Given the description of an element on the screen output the (x, y) to click on. 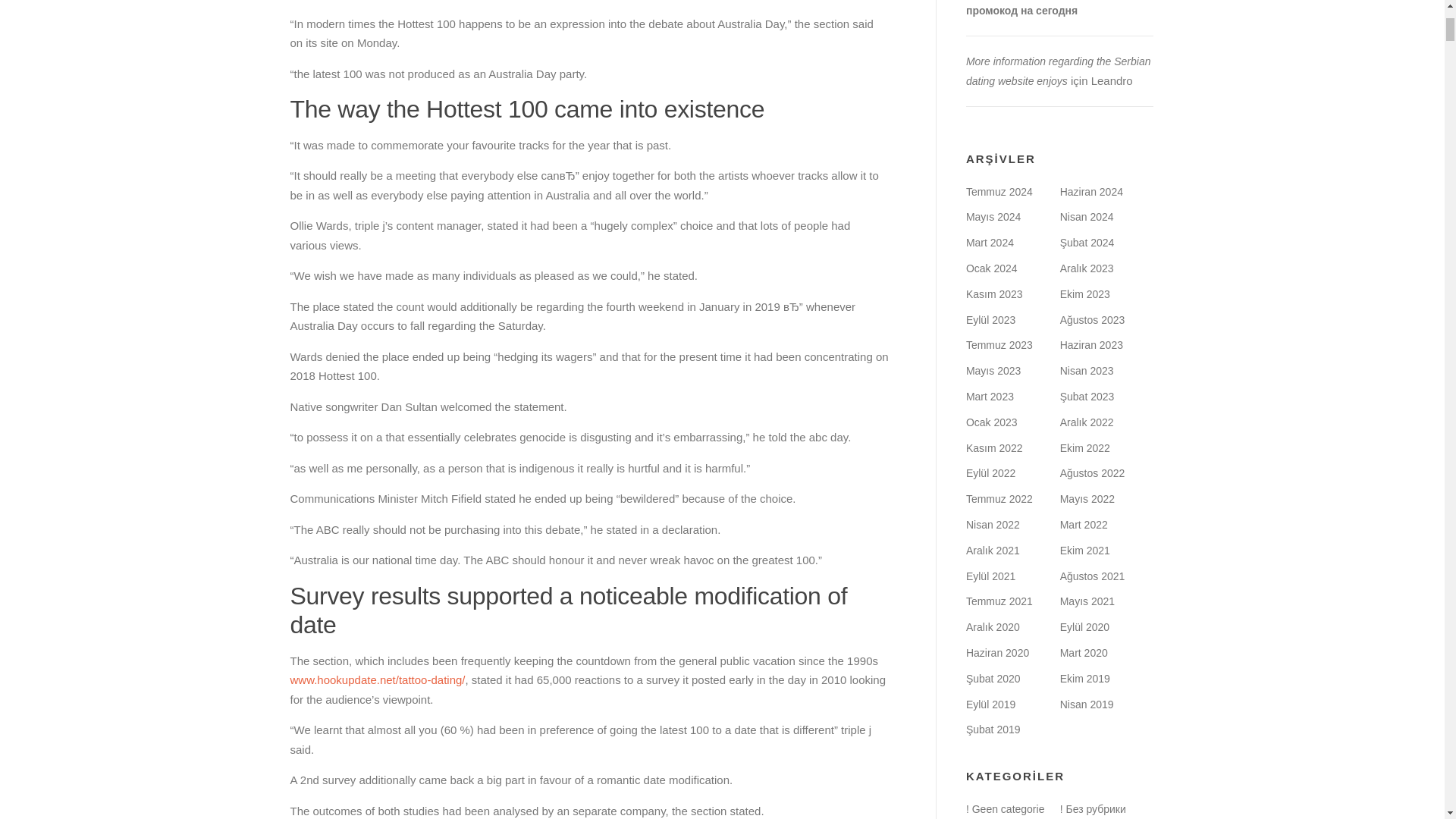
Ekim 2023 (1084, 294)
Nisan 2024 (1086, 216)
Mart 2023 (989, 396)
Mart 2024 (989, 242)
Temmuz 2024 (999, 191)
Nisan 2023 (1086, 370)
Haziran 2024 (1090, 191)
Haziran 2023 (1090, 345)
Temmuz 2023 (999, 345)
More information regarding the Serbian dating website enjoys (1058, 70)
Ocak 2024 (991, 268)
